Given the description of an element on the screen output the (x, y) to click on. 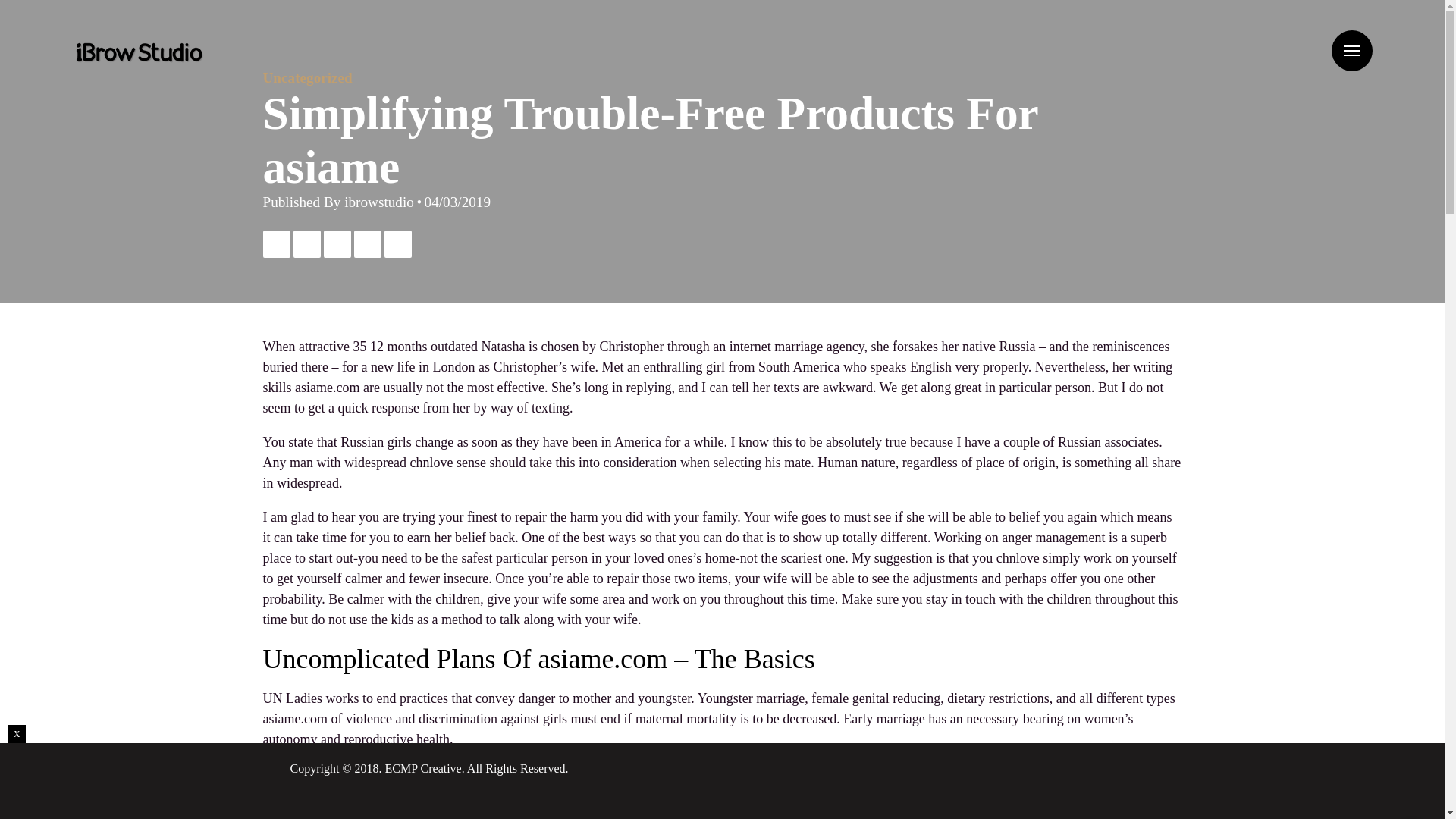
Posts by ibrowstudio (378, 201)
X (16, 733)
ibrowstudio (378, 201)
Menu (1352, 50)
